Given the description of an element on the screen output the (x, y) to click on. 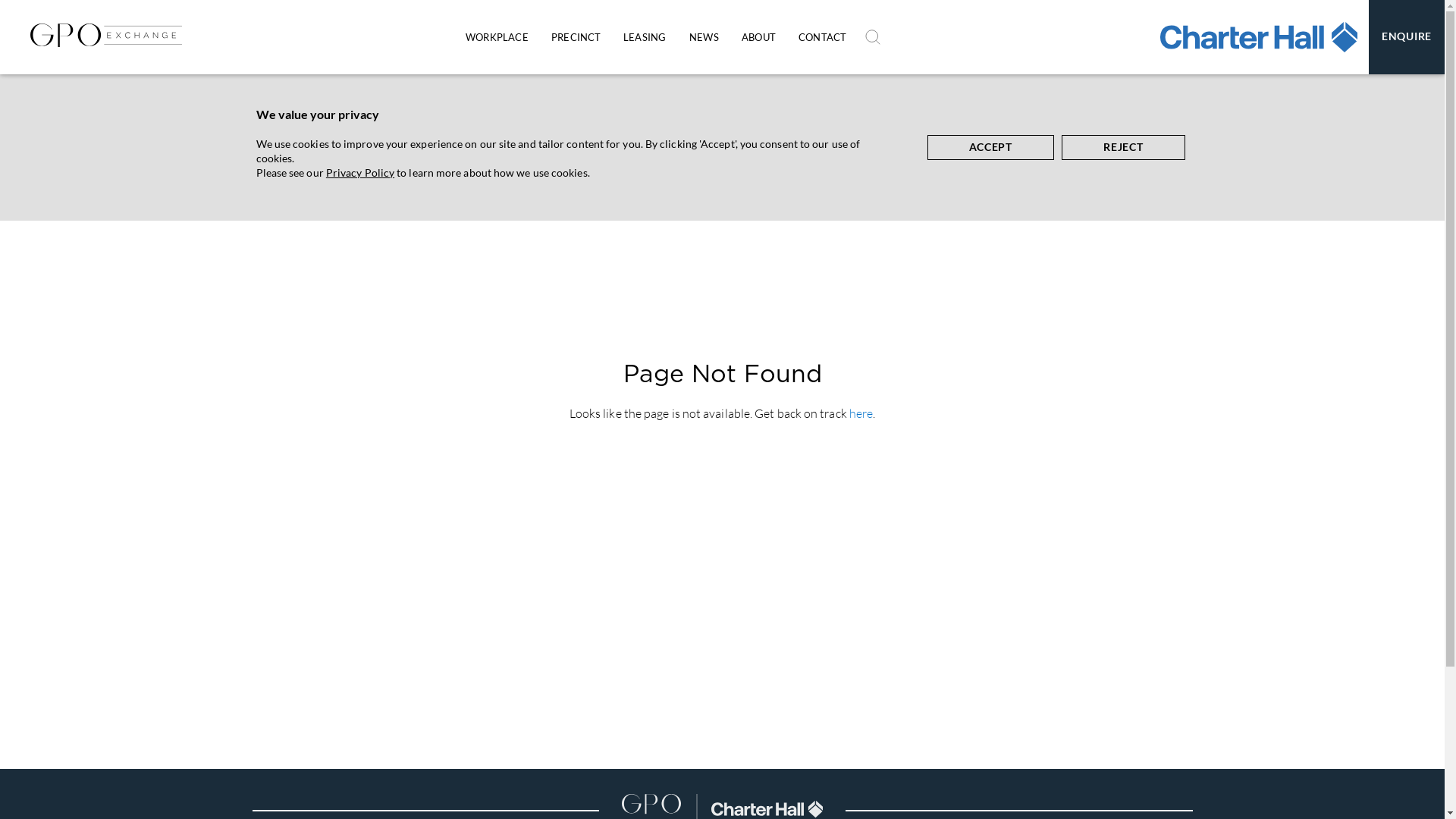
NEWS Element type: text (703, 37)
REJECT Element type: text (1123, 147)
ABOUT Element type: text (758, 37)
ACCEPT Element type: text (990, 147)
LEASING Element type: text (644, 37)
here Element type: text (860, 412)
Privacy Policy Element type: text (360, 172)
WORKPLACE Element type: text (496, 37)
CONTACT Element type: text (822, 37)
PRECINCT Element type: text (575, 37)
